Given the description of an element on the screen output the (x, y) to click on. 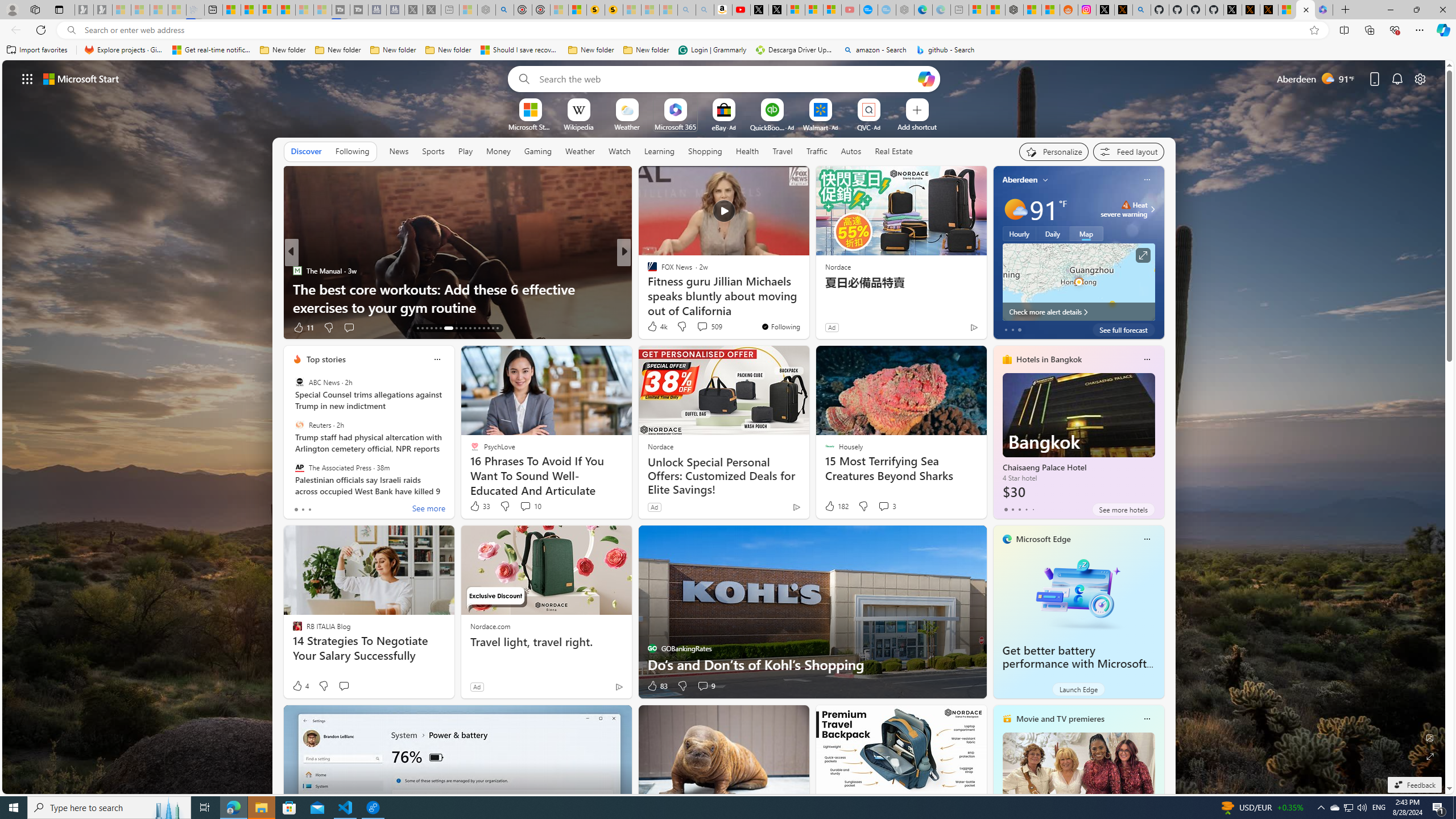
github - Search (1142, 9)
T3 (647, 270)
Wildlife - MSN - Sleeping (467, 9)
Enter your search term (726, 78)
Descarga Driver Updater (794, 49)
Microsoft account | Microsoft Account Privacy Settings (977, 9)
AutomationID: tab-16 (431, 328)
4k Like (656, 326)
Class: icon-img (1146, 718)
The Week US (647, 288)
AutomationID: tab-22 (465, 328)
The Associated Press (299, 466)
Autos (851, 151)
